Given the description of an element on the screen output the (x, y) to click on. 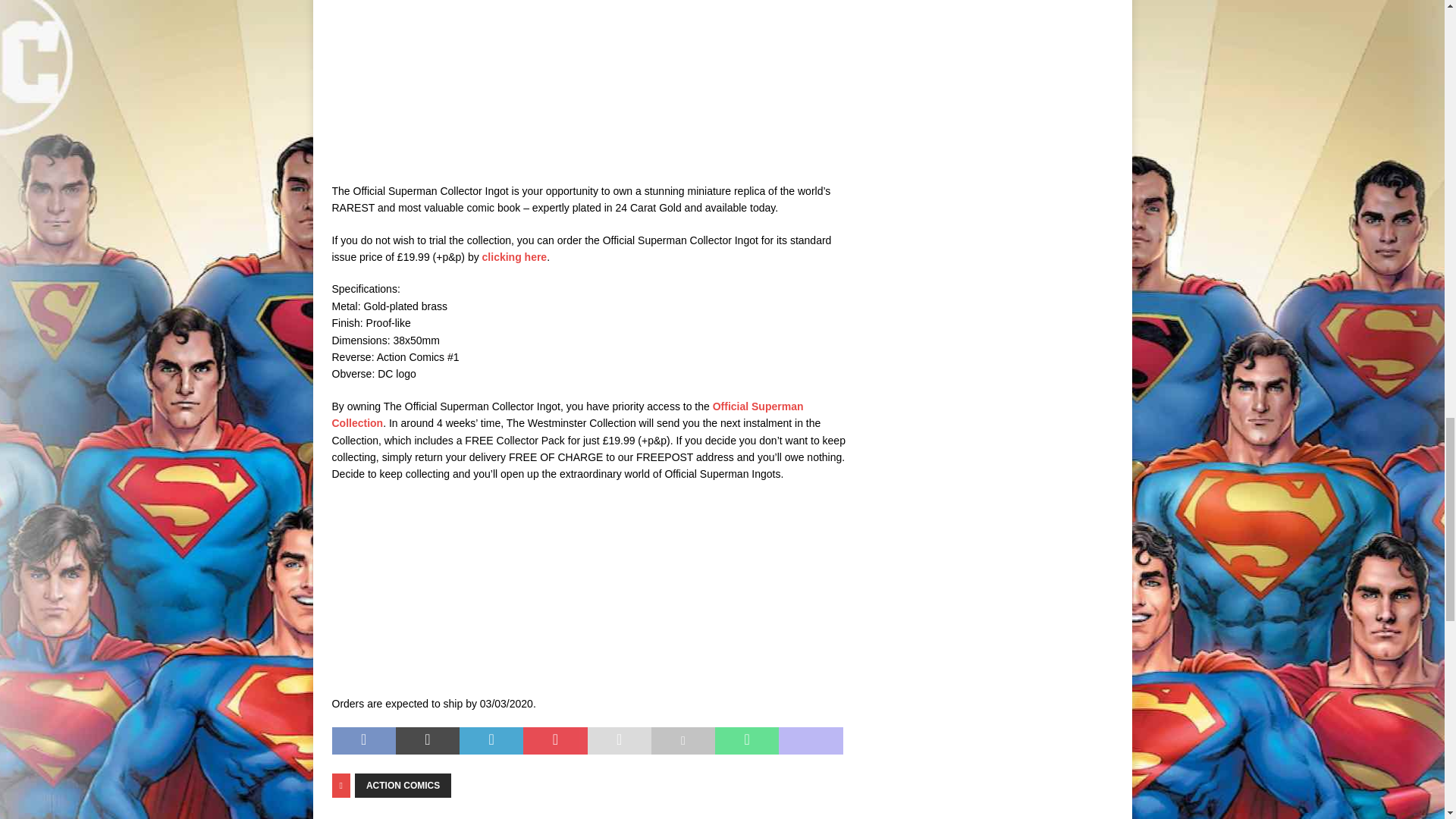
Pin This Post (554, 740)
Tweet This Post (428, 740)
Share on Facebook (363, 740)
Share On Mastodon (810, 740)
Share on Whatsapp (746, 740)
Send this article to a friend (619, 740)
Share on LinkedIn (491, 740)
Print this article (682, 740)
